Given the description of an element on the screen output the (x, y) to click on. 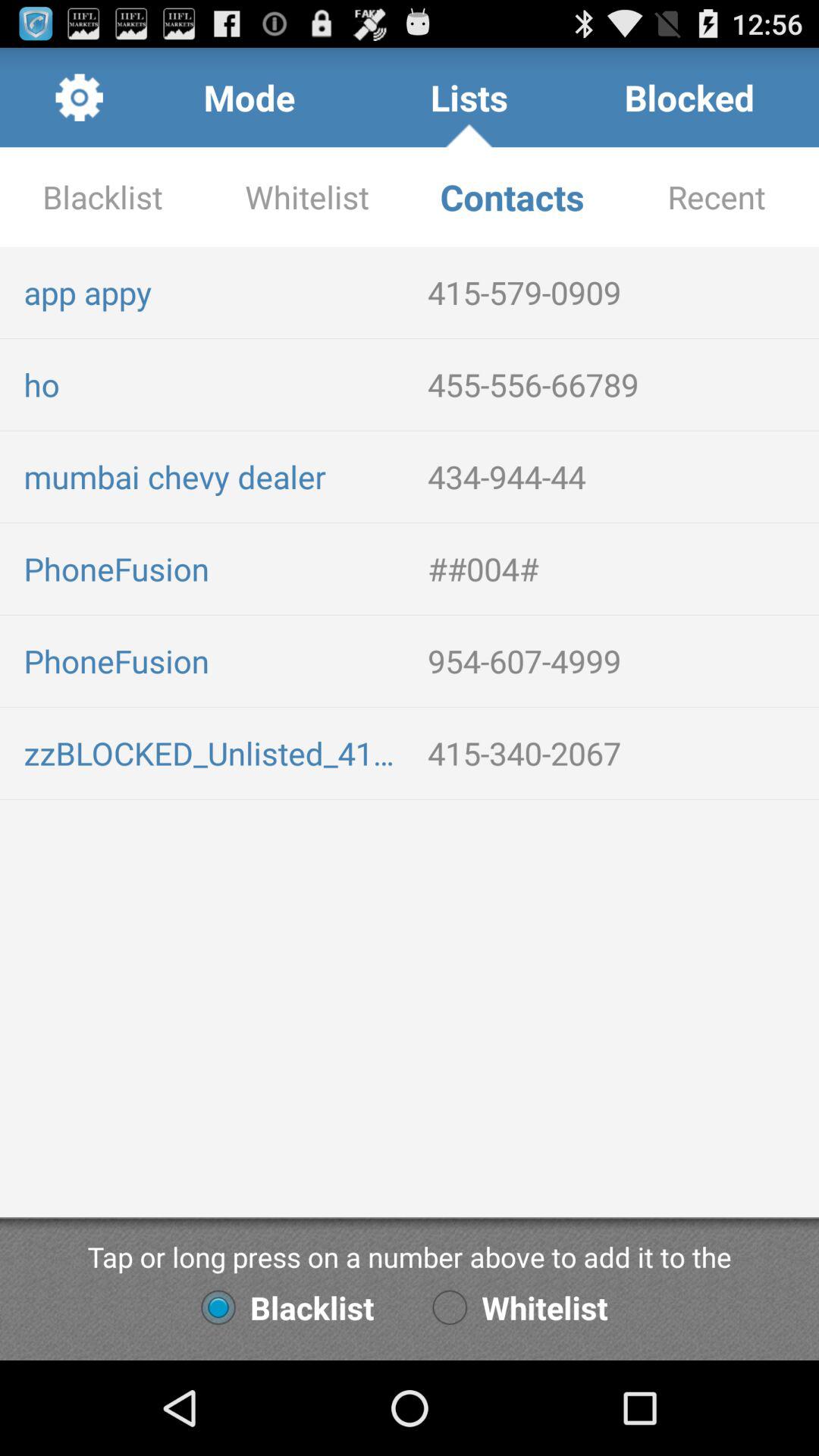
jump to the 954-607-4999 item (617, 660)
